Given the description of an element on the screen output the (x, y) to click on. 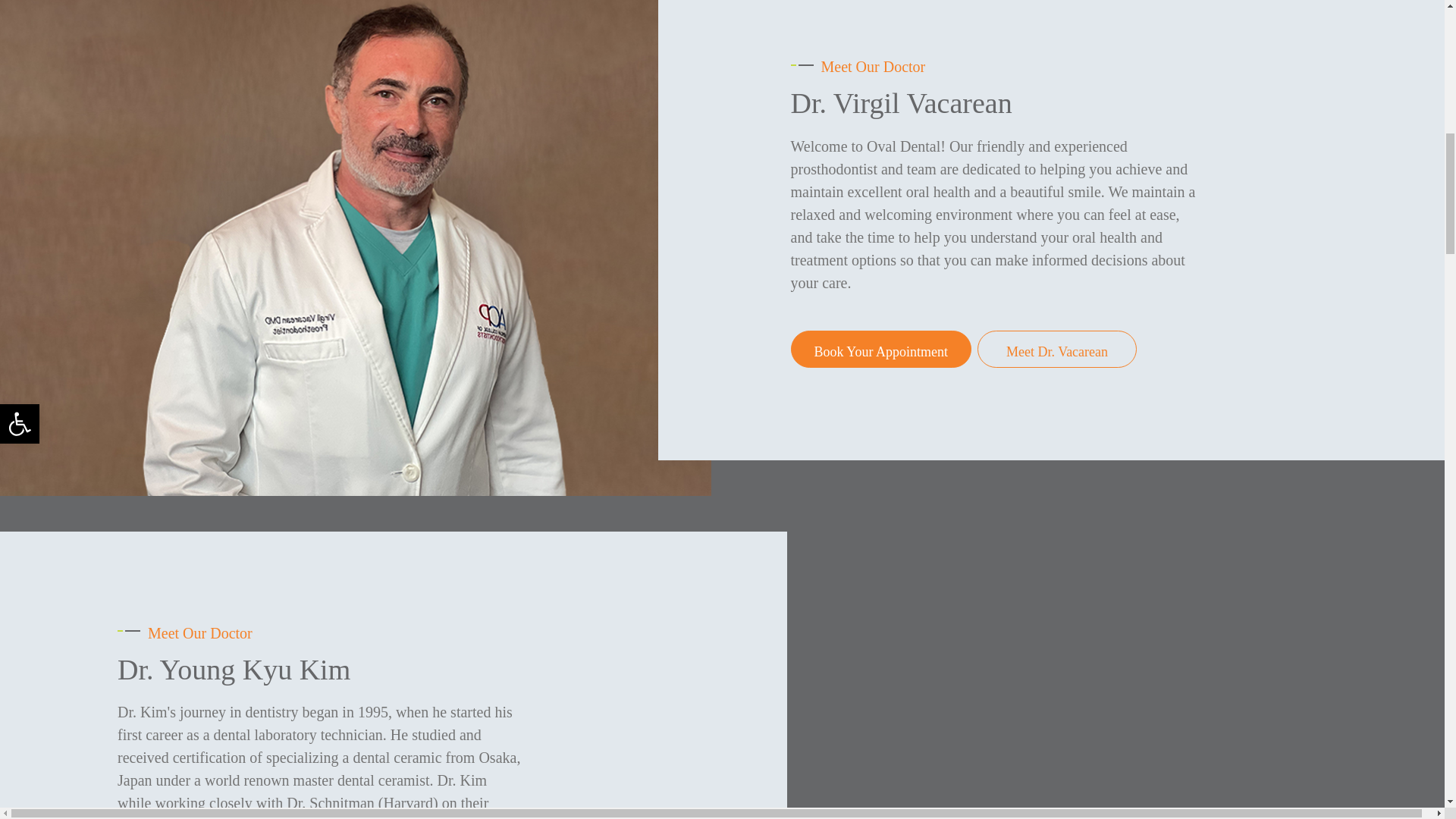
Meet Dr. Vacarean (1056, 349)
Book Your Appointment (880, 349)
